Given the description of an element on the screen output the (x, y) to click on. 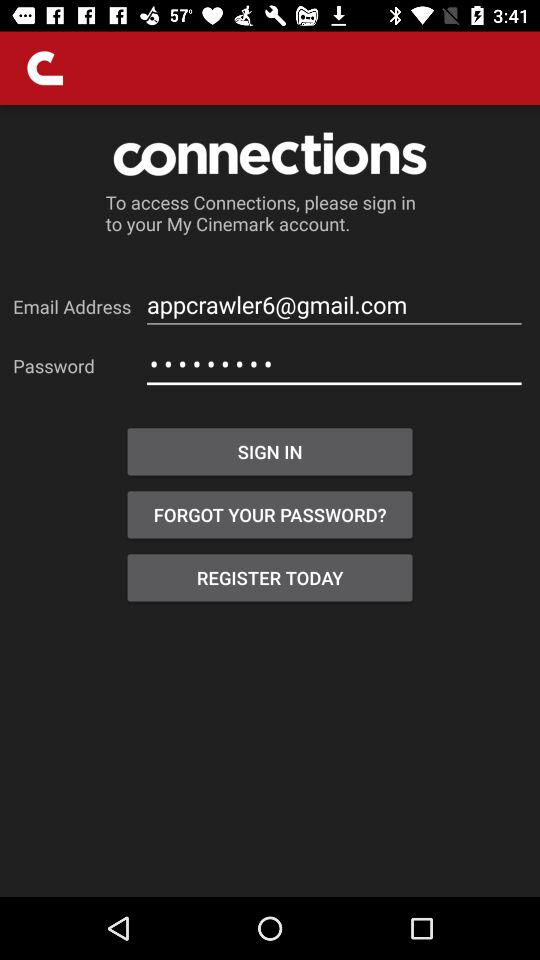
select item to the right of email address icon (333, 304)
